Given the description of an element on the screen output the (x, y) to click on. 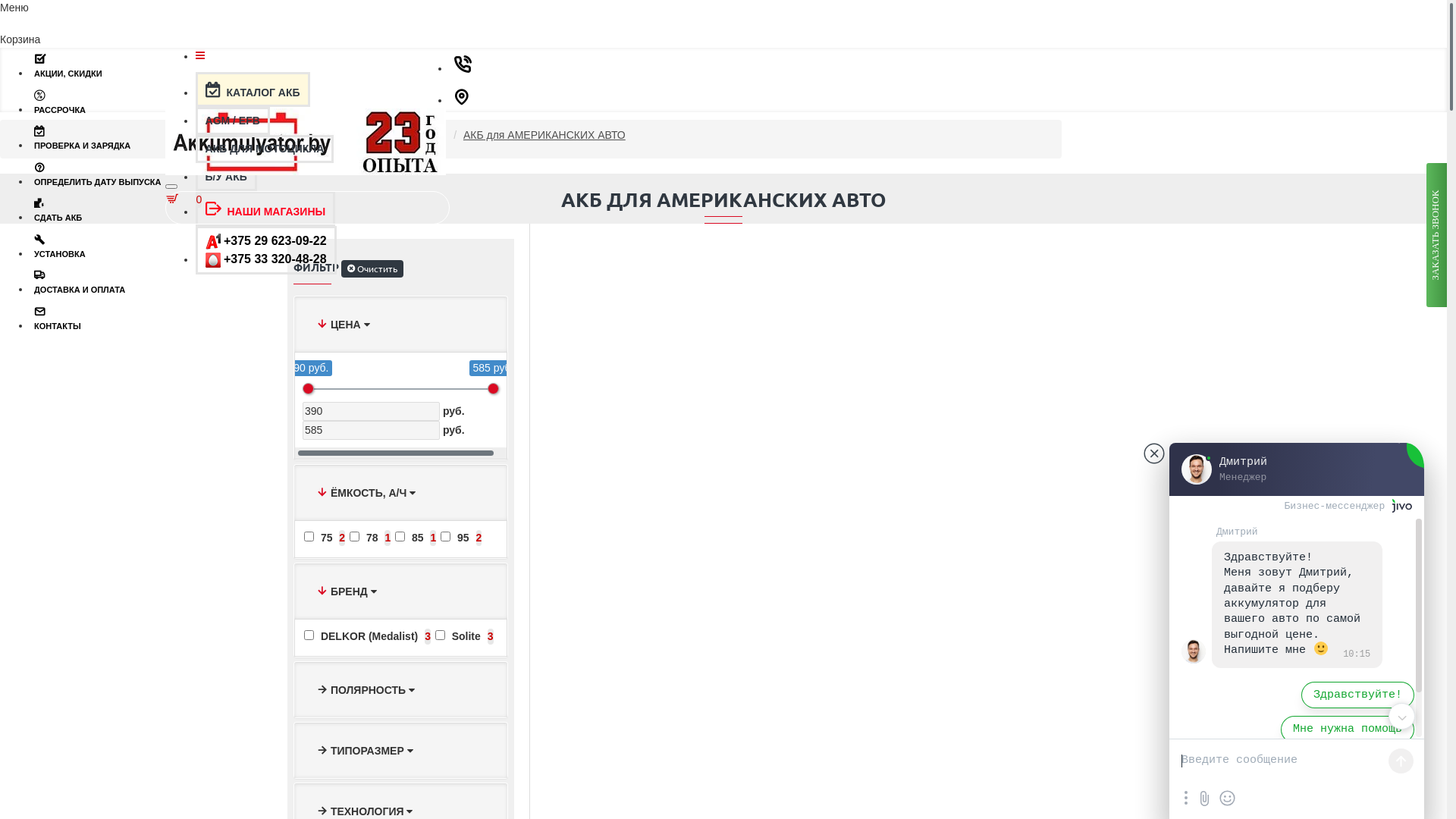
+375 29 623-09-22
+375 33 320-48-28 Element type: text (265, 249)
AGM / EFB Element type: text (232, 120)
0 Element type: text (185, 207)
